Given the description of an element on the screen output the (x, y) to click on. 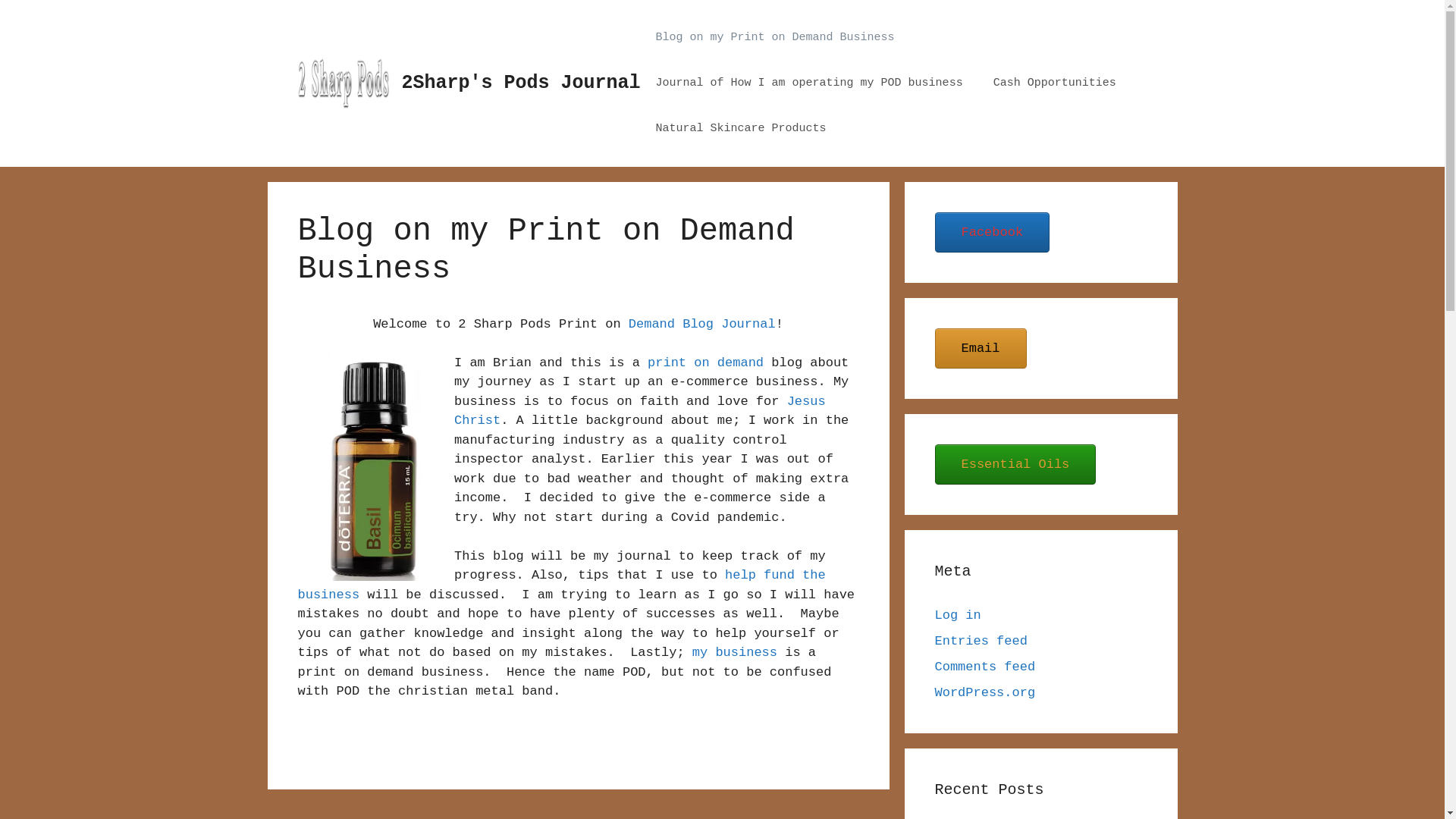
Facebook Element type: text (991, 232)
For Healthier you try these oils  Element type: hover (365, 466)
help fund the business Element type: text (561, 584)
Jesus Christ Element type: text (639, 411)
Cash Opportunities Element type: text (1054, 83)
Entries feed Element type: text (980, 640)
Natural Skincare Products Element type: text (740, 128)
WordPress.org Element type: text (984, 692)
Journal of How I am operating my POD business Element type: text (809, 83)
Blog on my Print on Demand Business Element type: text (775, 37)
Log in Element type: text (957, 615)
Demand Blog Journal Element type: text (701, 323)
2Sharp's Pods Journal Element type: text (520, 83)
Essential Oils Element type: text (1014, 464)
my business Element type: text (734, 652)
Comments feed Element type: text (984, 666)
print on demand Element type: text (705, 362)
Email Element type: text (980, 348)
